Given the description of an element on the screen output the (x, y) to click on. 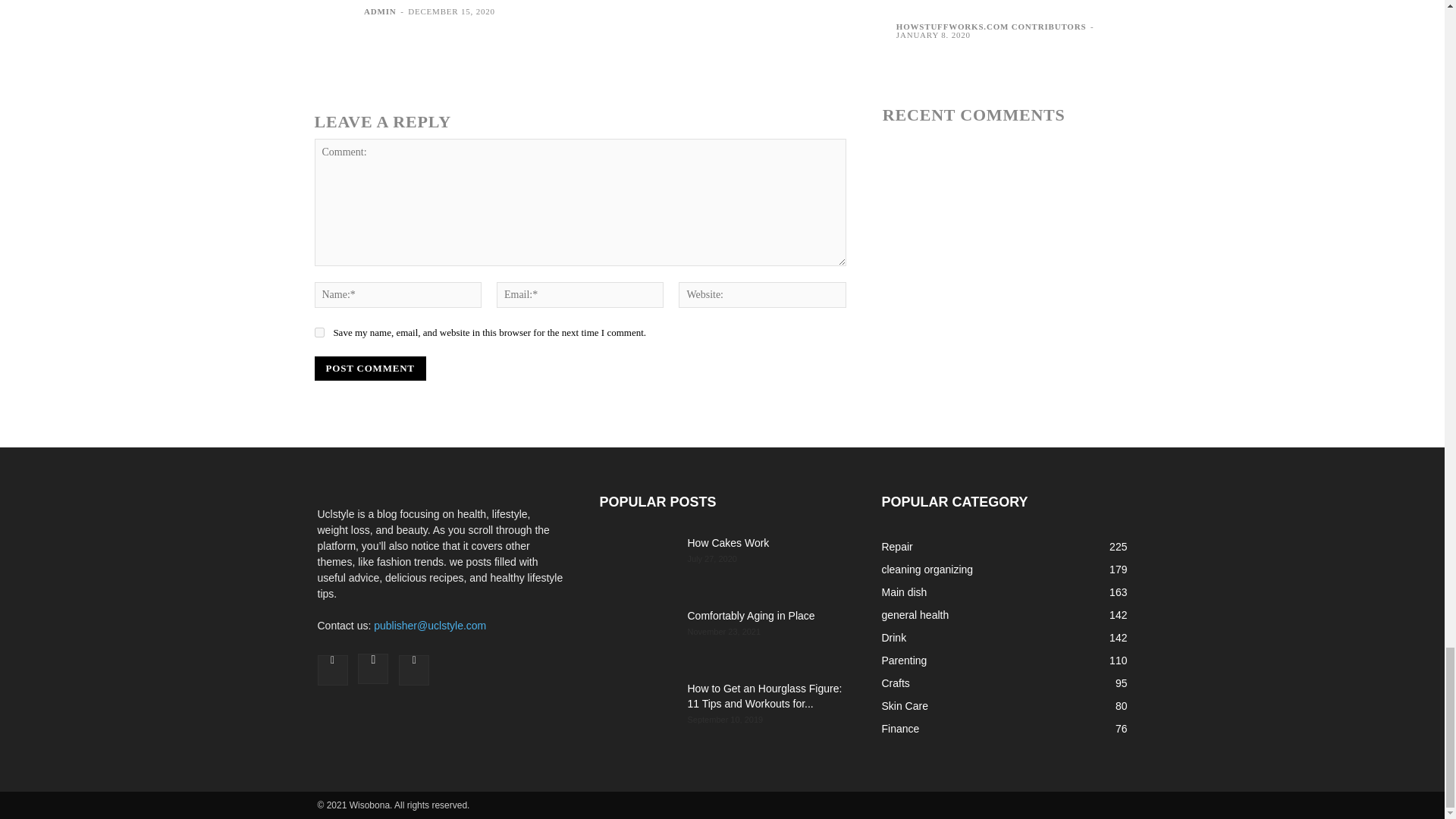
Post Comment (369, 368)
yes (318, 332)
